Given the description of an element on the screen output the (x, y) to click on. 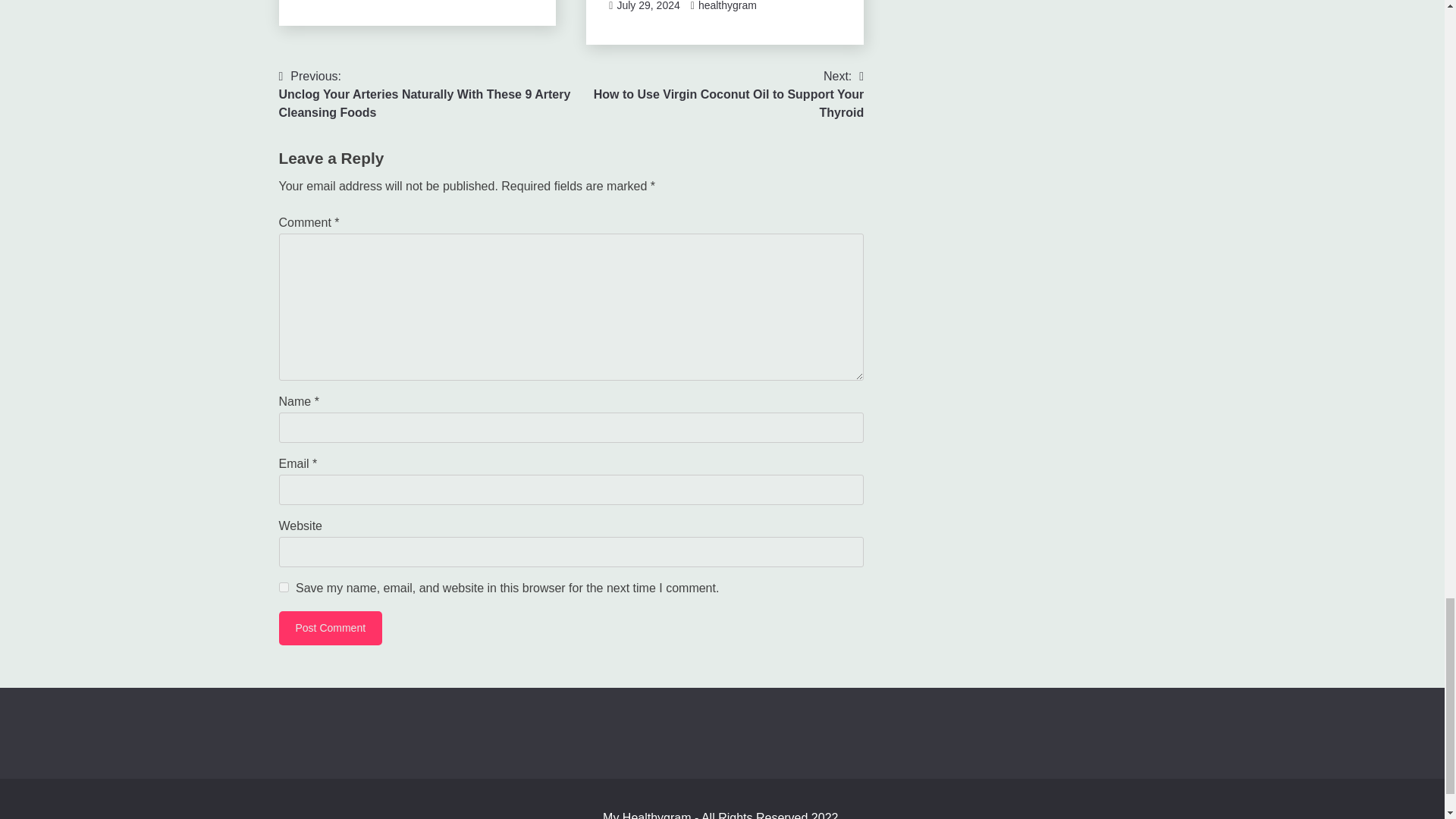
Post Comment (330, 627)
healthygram (716, 94)
Post Comment (727, 5)
July 29, 2024 (330, 627)
yes (647, 5)
